Given the description of an element on the screen output the (x, y) to click on. 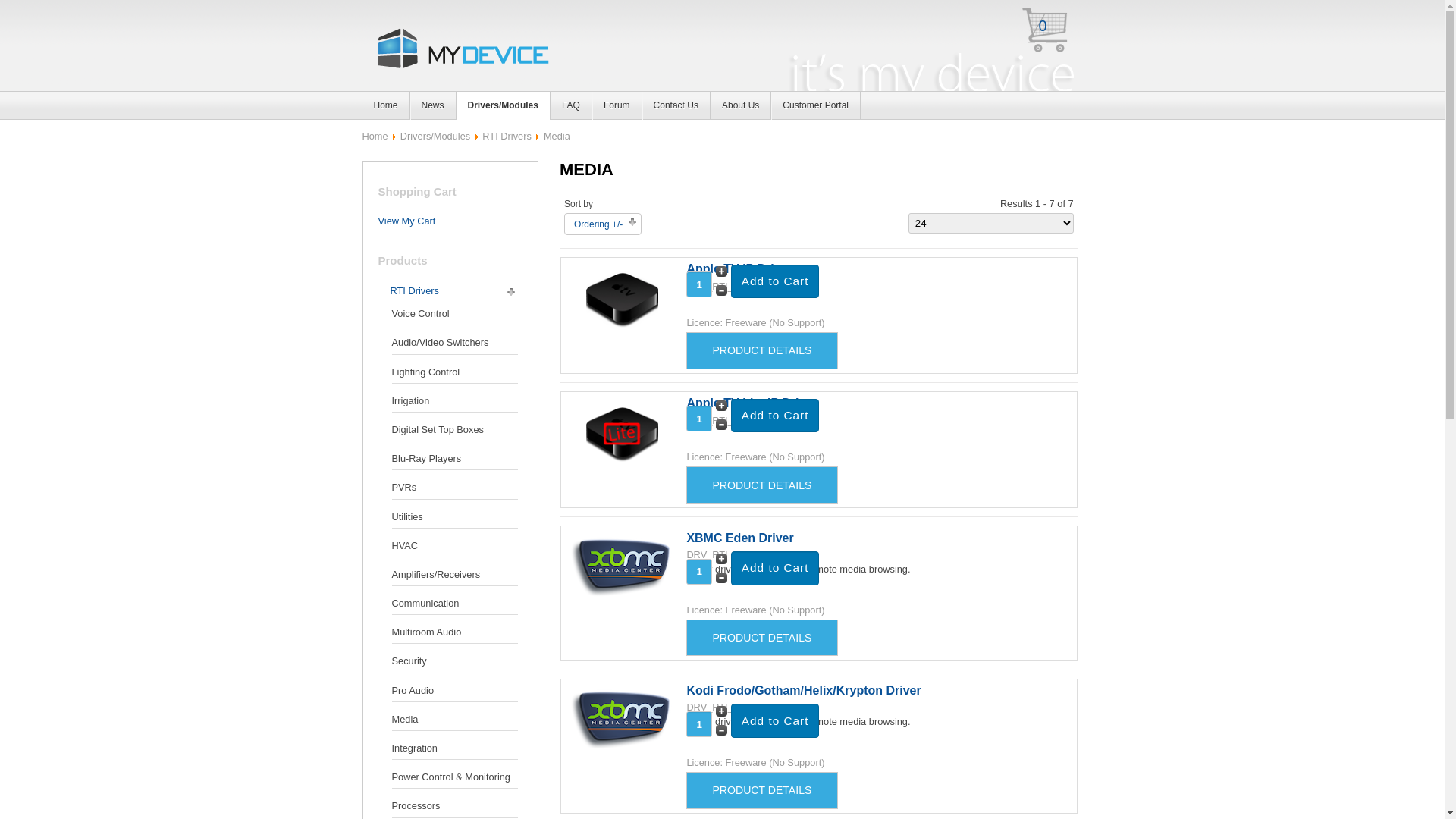
Home Element type: text (375, 135)
Pro Audio Element type: text (454, 690)
Contact Us Element type: text (676, 105)
1 Element type: text (699, 418)
Integration Element type: text (454, 748)
Audio/Video Switchers Element type: text (454, 342)
Apple TV Lite IP Driver Element type: text (751, 402)
Apple TV IP Driver Element type: hover (622, 326)
Apple TV IP Driver Element type: text (738, 268)
Add to Cart Element type: text (775, 415)
PVRs Element type: text (454, 487)
Add to Cart Element type: hover (775, 281)
XBMC Eden Driver Element type: hover (622, 595)
FAQ Element type: text (571, 105)
XBMC Eden Driver Element type: text (739, 536)
HVAC Element type: text (454, 545)
Customer Portal Element type: text (815, 105)
Lighting Control Element type: text (454, 371)
PRODUCT DETAILS Element type: text (761, 350)
Kodi Frodo/Gotham/Helix/Krypton Driver Element type: hover (622, 747)
Multiroom Audio Element type: text (454, 632)
Processors Element type: text (454, 805)
Add to Cart Element type: hover (775, 720)
Amplifiers/Receivers Element type: text (454, 574)
Security Element type: text (454, 660)
PRODUCT DETAILS Element type: text (761, 790)
Add to Cart Element type: text (775, 568)
RTI Drivers Element type: text (506, 135)
View My Cart Element type: text (406, 220)
Irrigation Element type: text (454, 400)
About Us Element type: text (740, 105)
Communication Element type: text (454, 603)
PRODUCT DETAILS Element type: text (761, 637)
News Element type: text (433, 105)
Kodi Frodo/Gotham/Helix/Krypton Driver Element type: text (803, 690)
Ordering +/- Element type: text (598, 224)
Voice Control Element type: text (454, 313)
Power Control & Monitoring Element type: text (454, 776)
Utilities Element type: text (454, 516)
Add to Cart Element type: hover (775, 568)
1 Element type: text (699, 571)
Add to Cart Element type: text (775, 281)
Blu-Ray Players Element type: text (454, 458)
RTI Drivers Element type: text (413, 290)
Forum Element type: text (617, 105)
1 Element type: text (699, 284)
Home Element type: text (384, 105)
1 Element type: text (699, 724)
Drivers/Modules Element type: text (503, 105)
PRODUCT DETAILS Element type: text (761, 484)
Add to Cart Element type: text (775, 720)
Add to Cart Element type: hover (775, 415)
Drivers/Modules Element type: text (435, 135)
Digital Set Top Boxes Element type: text (454, 429)
Apple TV Lite IP Driver Element type: hover (622, 460)
Media Element type: text (454, 719)
0 Element type: text (1053, 34)
